Given the description of an element on the screen output the (x, y) to click on. 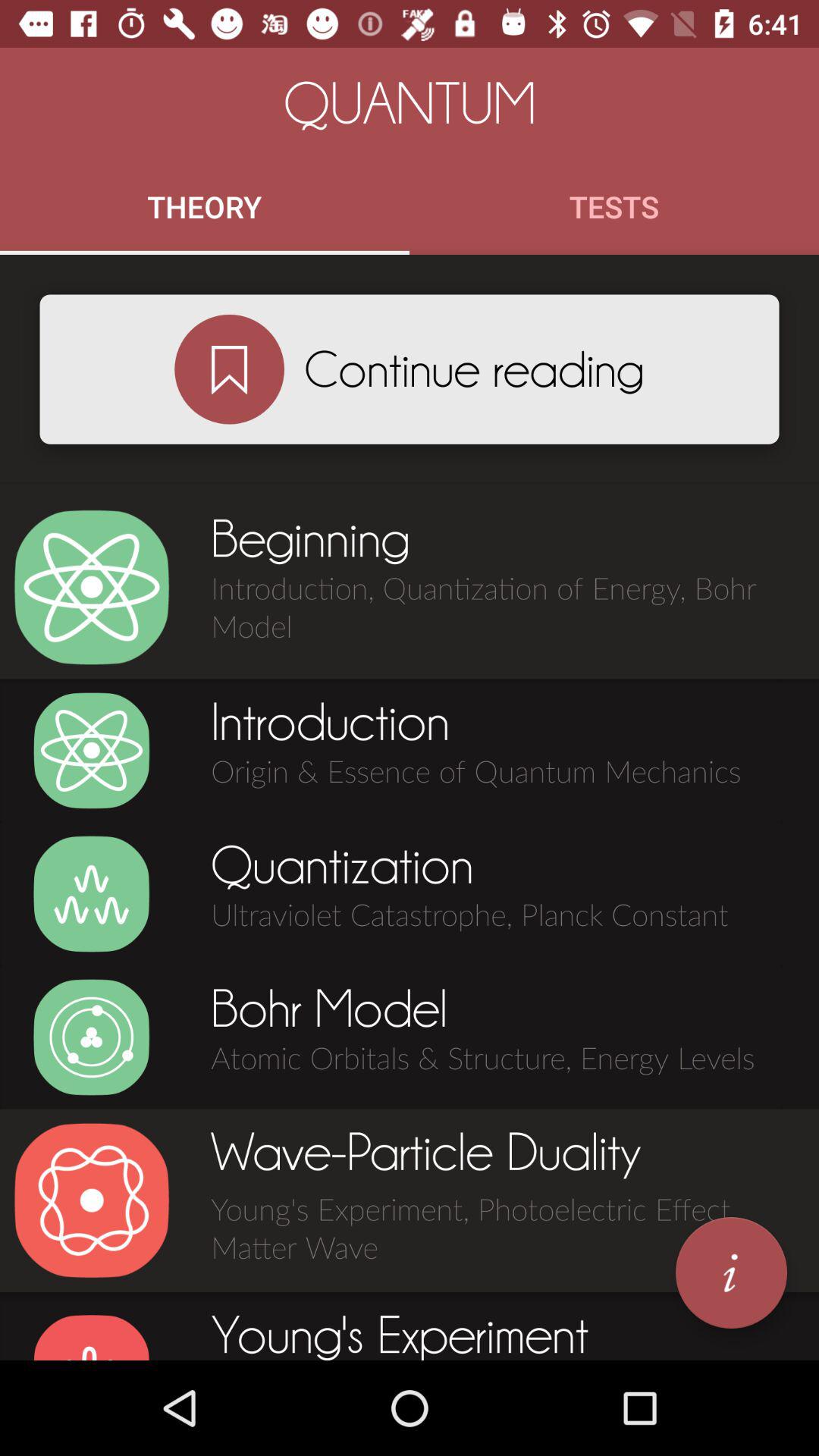
select the introduction (91, 750)
